Given the description of an element on the screen output the (x, y) to click on. 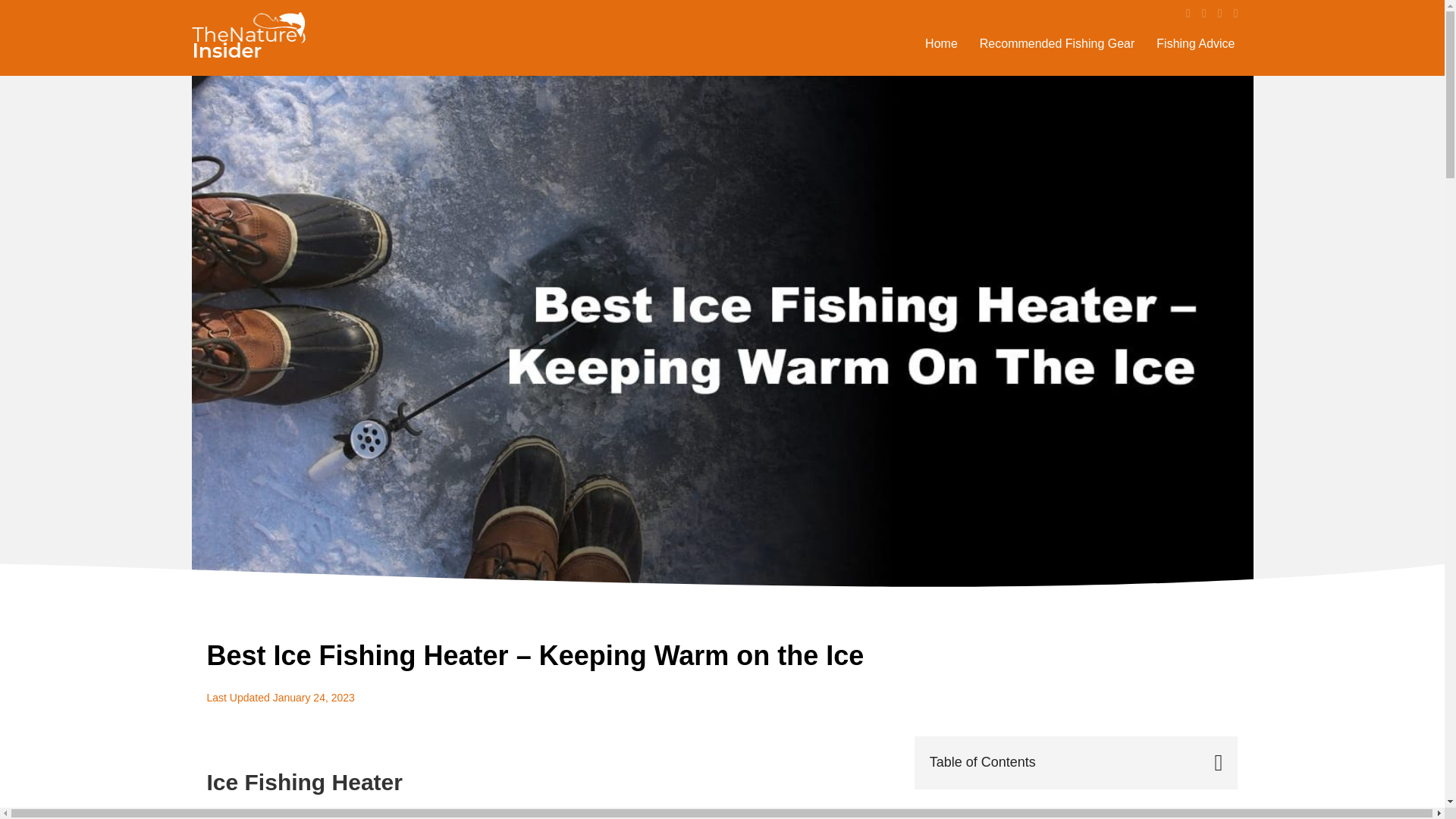
Fishing Advice (1194, 43)
Recommended Fishing Gear (1057, 43)
Ice Fishing (350, 813)
ice fishing (350, 813)
The Nature Insider (247, 37)
Home (941, 43)
